Given the description of an element on the screen output the (x, y) to click on. 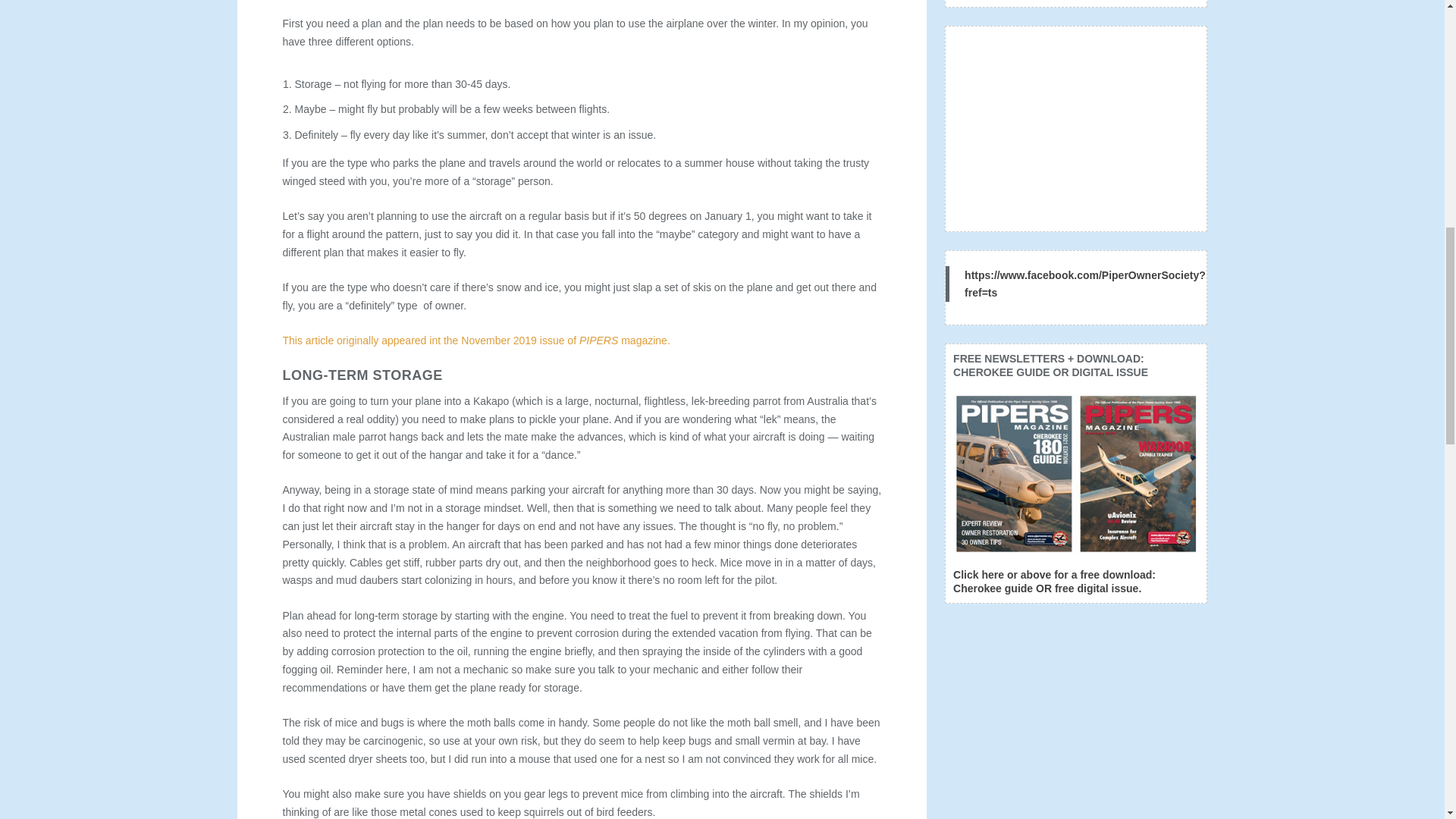
PIPERS (598, 340)
magazine. (643, 340)
